Given the description of an element on the screen output the (x, y) to click on. 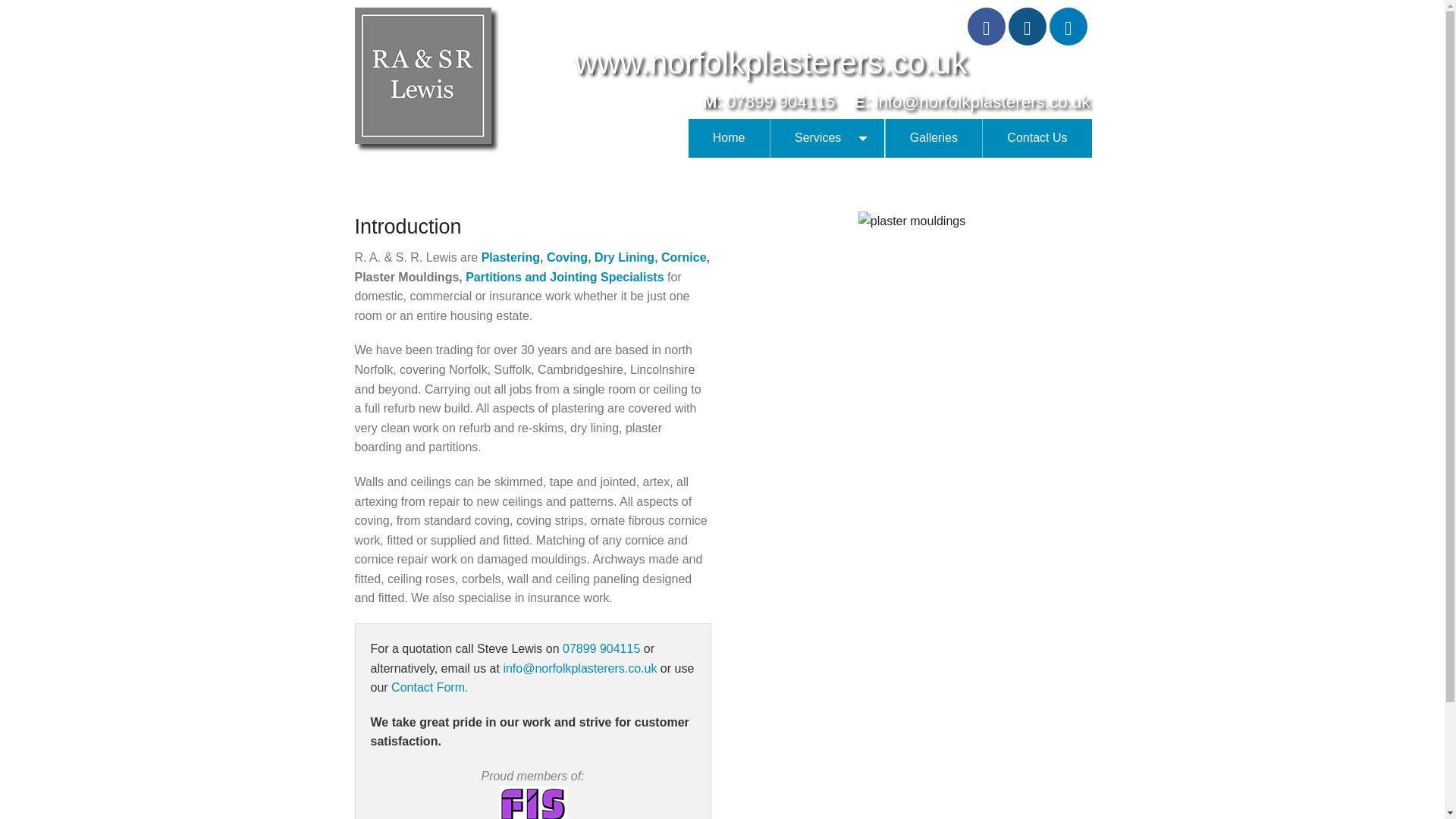
Galleries (933, 138)
Partitions and Jointing Specialists (564, 277)
Coving (567, 256)
Services (826, 138)
Plastering (510, 256)
Partitions and Jointing Specialists (564, 277)
Plastering (510, 256)
Contact Us (1035, 138)
Ornate cornice (683, 256)
Dry Lining (623, 256)
07899 904115 (780, 101)
Services (826, 137)
Cornice (683, 256)
Coving (567, 256)
Home (729, 138)
